Given the description of an element on the screen output the (x, y) to click on. 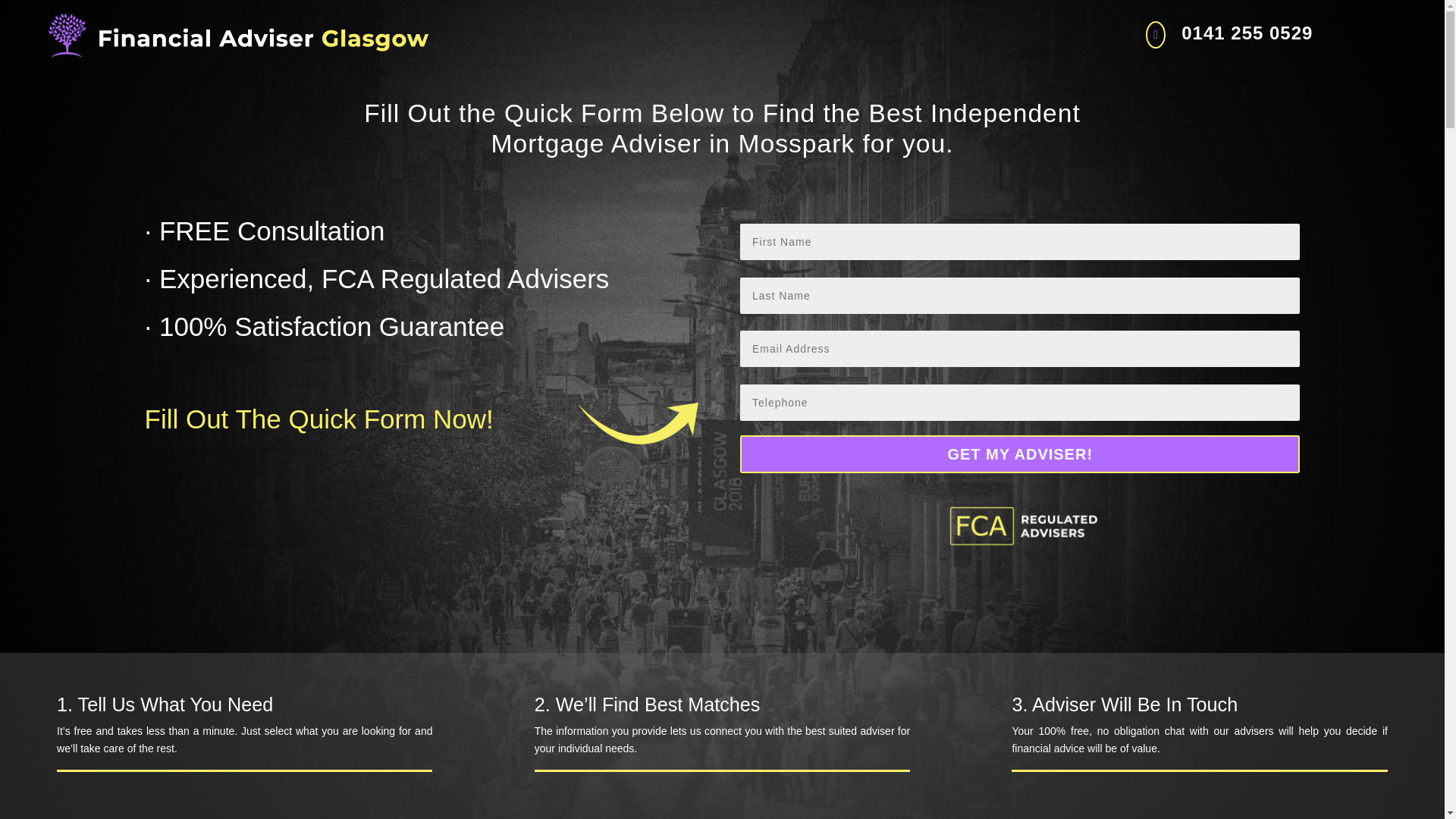
Logo-FAG (238, 35)
FCA-FAG (1019, 525)
Only numbers allowed. (1019, 402)
